Given the description of an element on the screen output the (x, y) to click on. 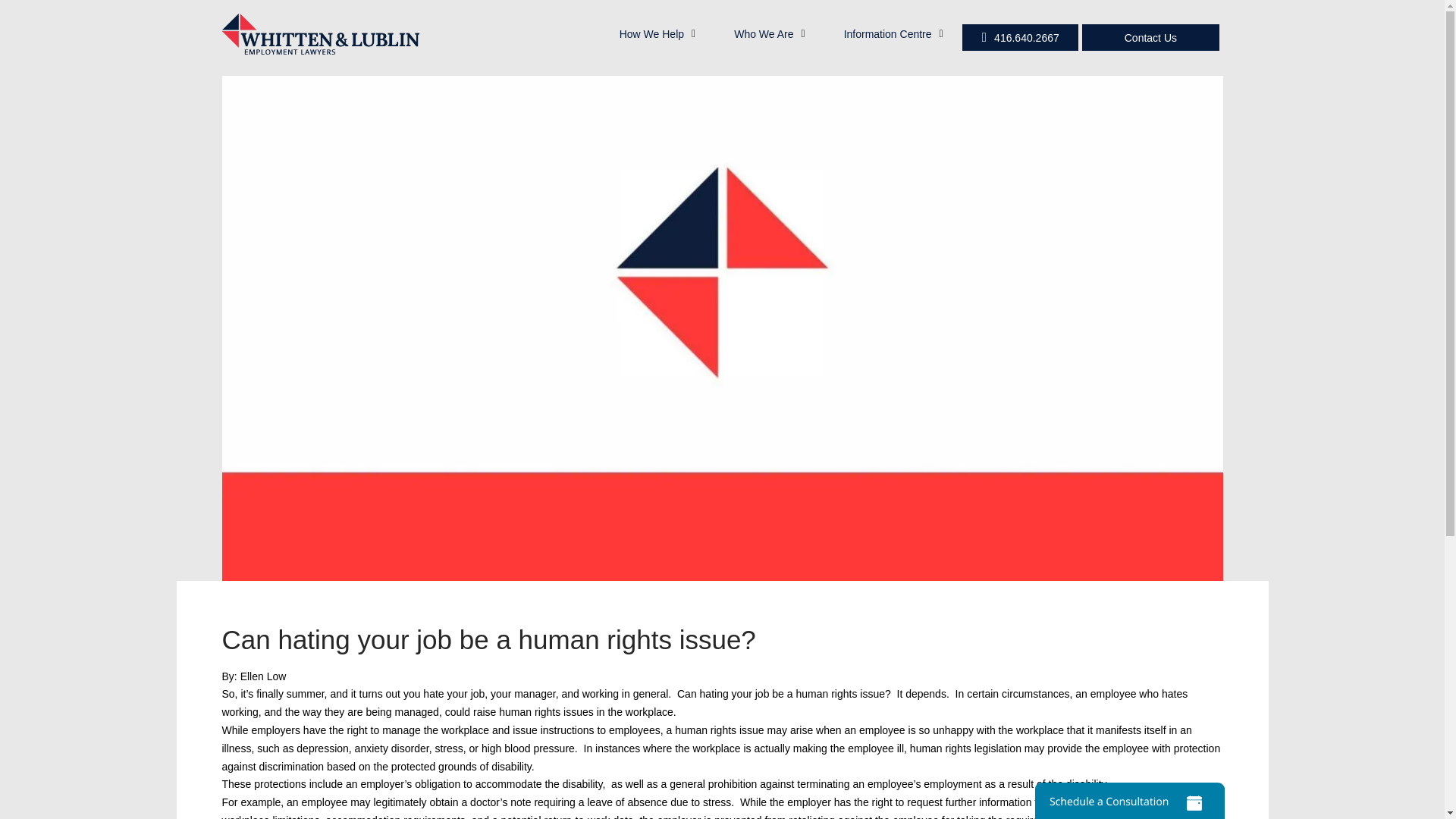
Who We Are (769, 33)
Contact Us (1149, 37)
416.640.2667 (1020, 37)
How We Help (656, 33)
Information Centre (893, 33)
